Given the description of an element on the screen output the (x, y) to click on. 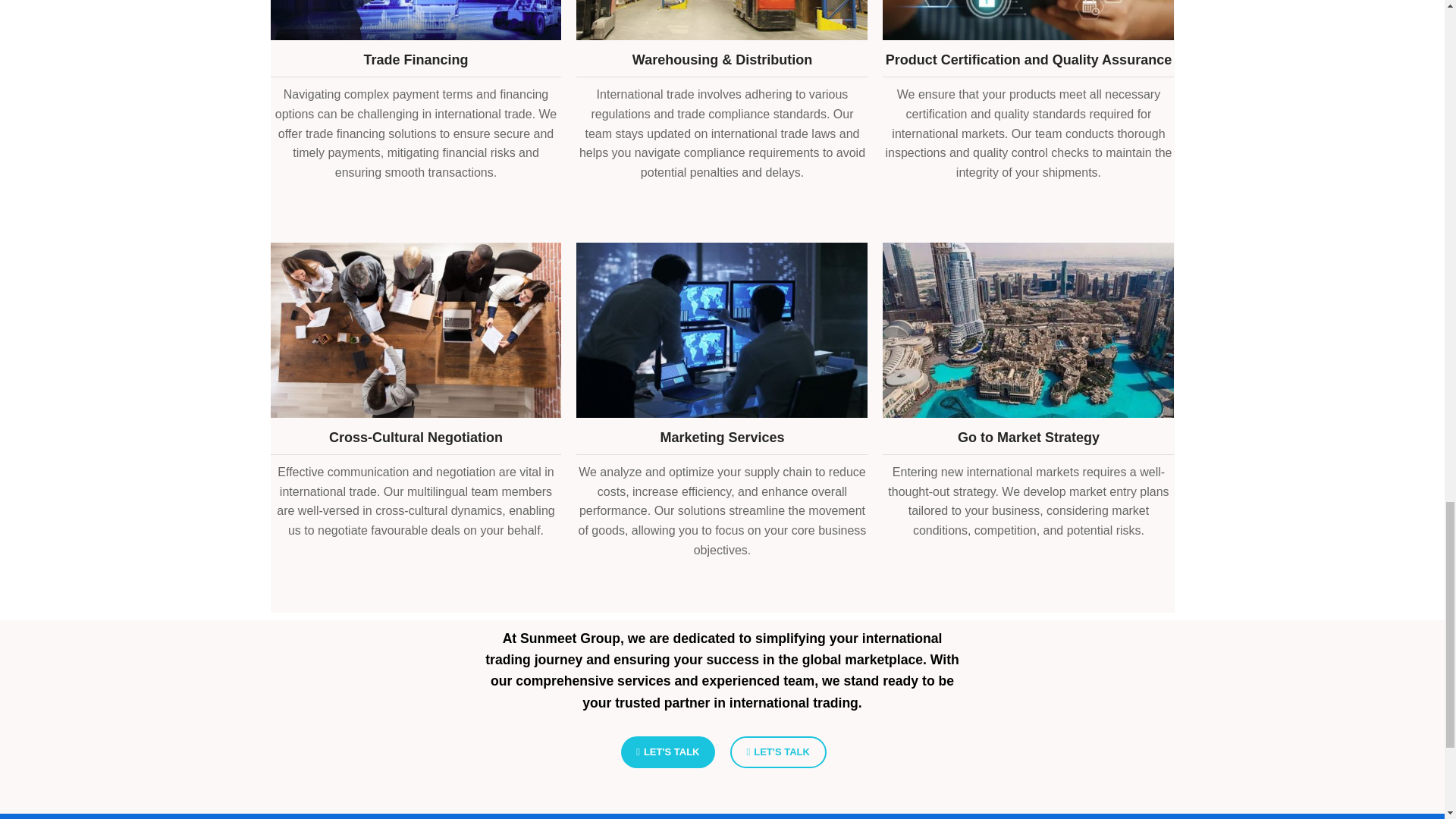
Cross-Cultural-Negotiation-Roundtable-1 (414, 329)
603f74678939d (1027, 329)
em-supply-chain-consultingstrategysupply-chain-consulting (721, 329)
LET'S TALK (777, 752)
LET'S TALK (667, 752)
